Given the description of an element on the screen output the (x, y) to click on. 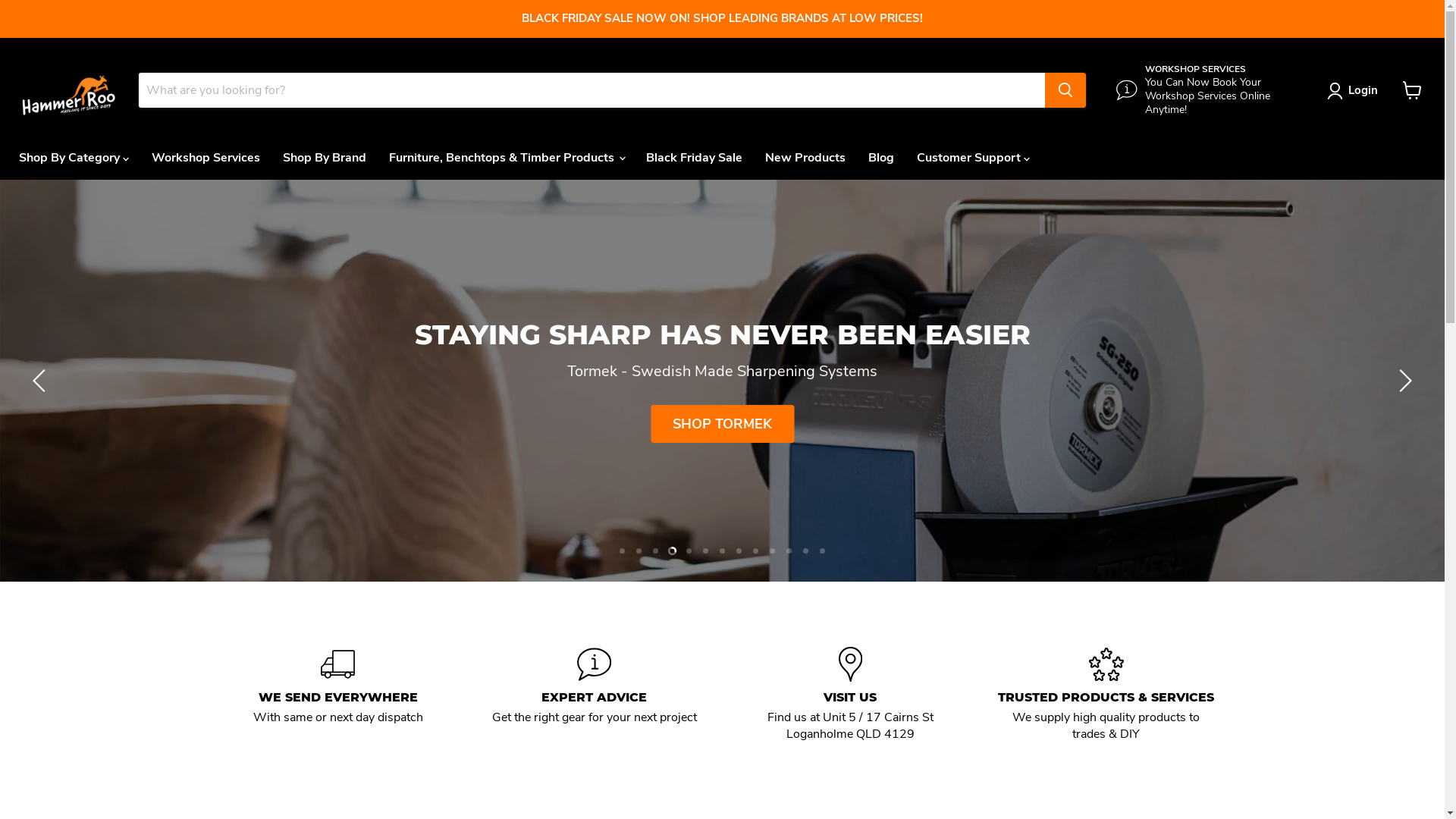
Slide 8 Element type: text (738, 615)
Workshop Services Element type: text (205, 157)
New Products Element type: text (804, 157)
Slide 10 Element type: text (772, 615)
View cart Element type: text (1412, 89)
Black Friday Sale Element type: text (693, 157)
Slide 5 Element type: text (688, 615)
Slide 4 Element type: text (671, 615)
Slide 7 Element type: text (721, 615)
Slide 13 Element type: text (822, 615)
Slide 11 Element type: text (788, 615)
Slide 12 Element type: text (805, 615)
Shop By Brand Element type: text (324, 157)
Blog Element type: text (880, 157)
Slide 2 Element type: text (638, 615)
SHOP NAREX Element type: text (721, 455)
Slide 9 Element type: text (755, 615)
Slide 6 Element type: text (705, 615)
Slide 1 Element type: text (621, 615)
Slide 3 Element type: text (654, 615)
Login Element type: text (1355, 90)
